Given the description of an element on the screen output the (x, y) to click on. 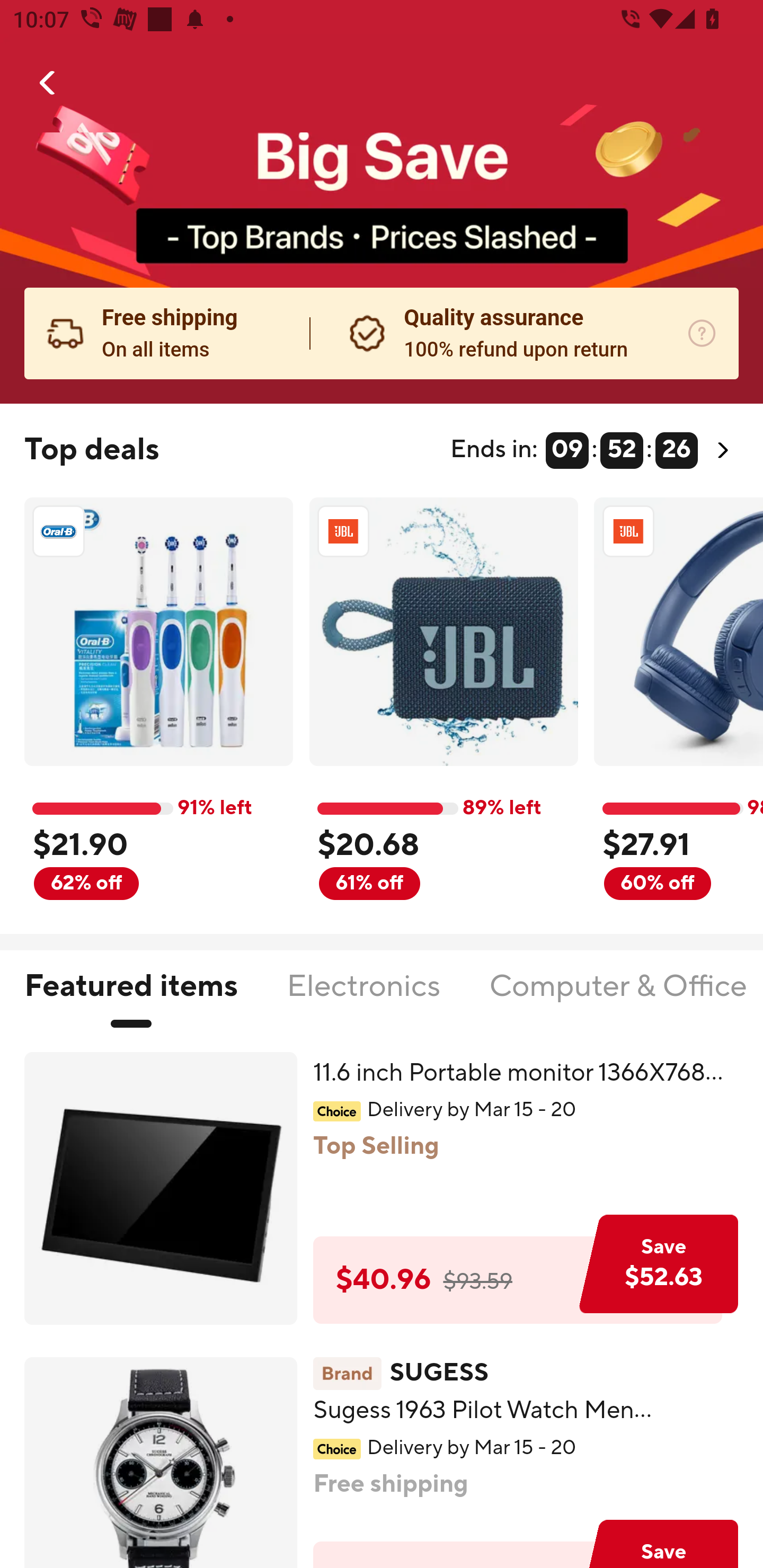
 (48, 82)
Featured items (130, 996)
Electronics (363, 996)
Computer & Office (617, 996)
